Given the description of an element on the screen output the (x, y) to click on. 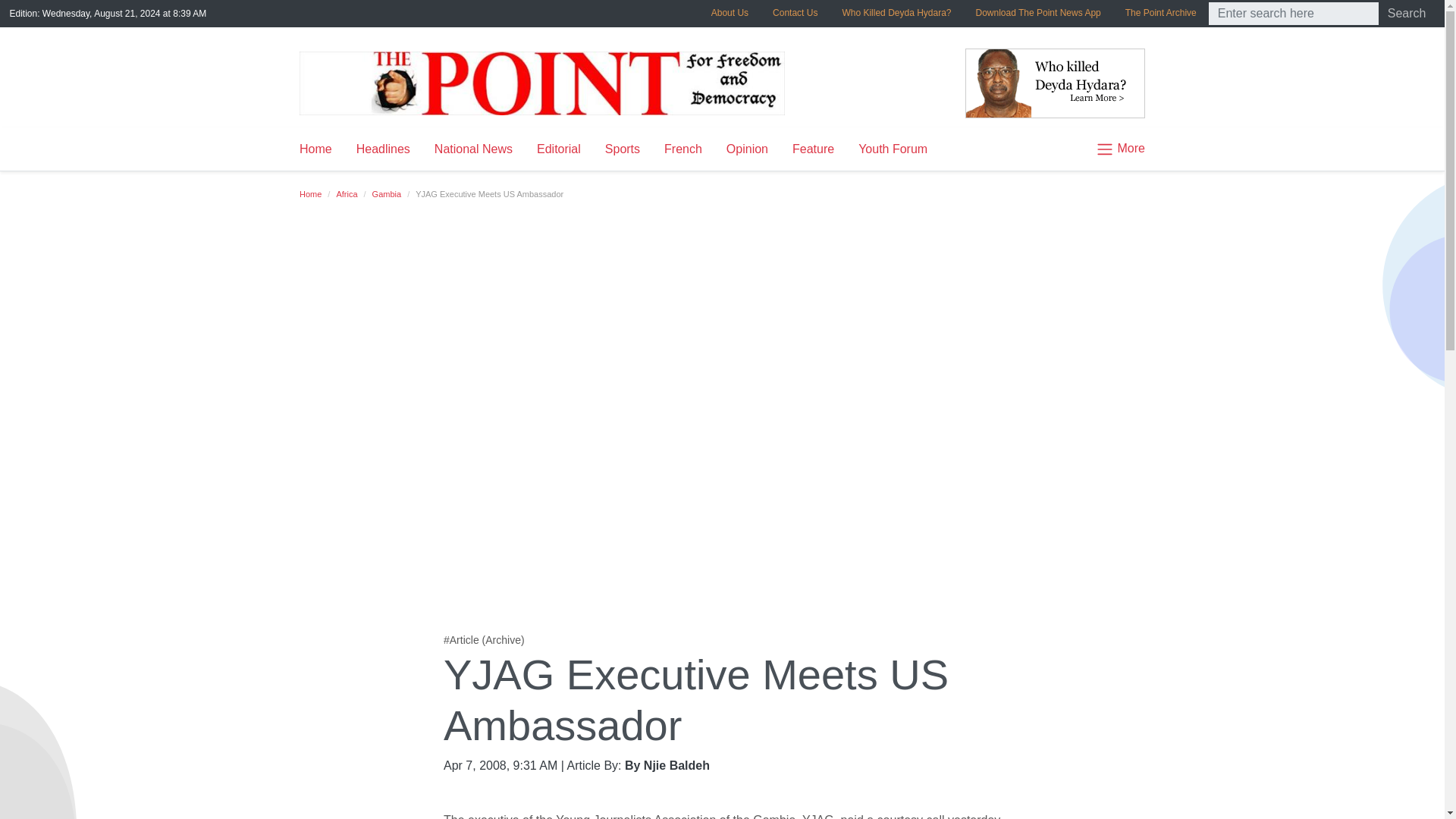
Search (1406, 13)
Gambia (386, 194)
The Point Archive (1160, 12)
Contact Us (794, 12)
Home (321, 149)
Sports (622, 149)
Opinion (747, 149)
French (683, 149)
Feature (812, 149)
